Given the description of an element on the screen output the (x, y) to click on. 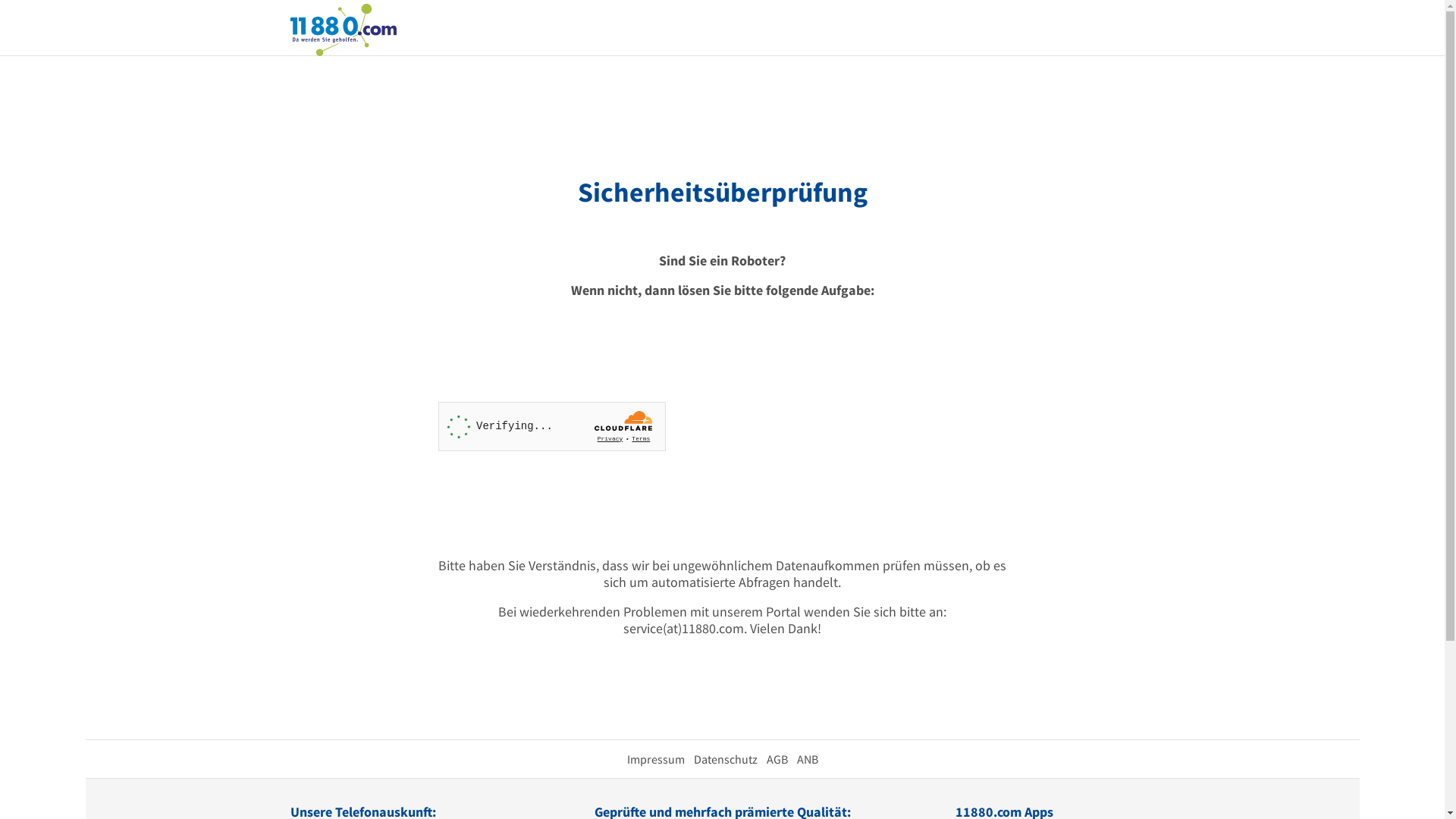
Impressum Element type: text (655, 758)
Datenschutz Element type: text (724, 758)
ANB Element type: text (806, 758)
Widget containing a Cloudflare security challenge Element type: hover (551, 426)
AGB Element type: text (776, 758)
11880.com Element type: hover (342, 28)
